Given the description of an element on the screen output the (x, y) to click on. 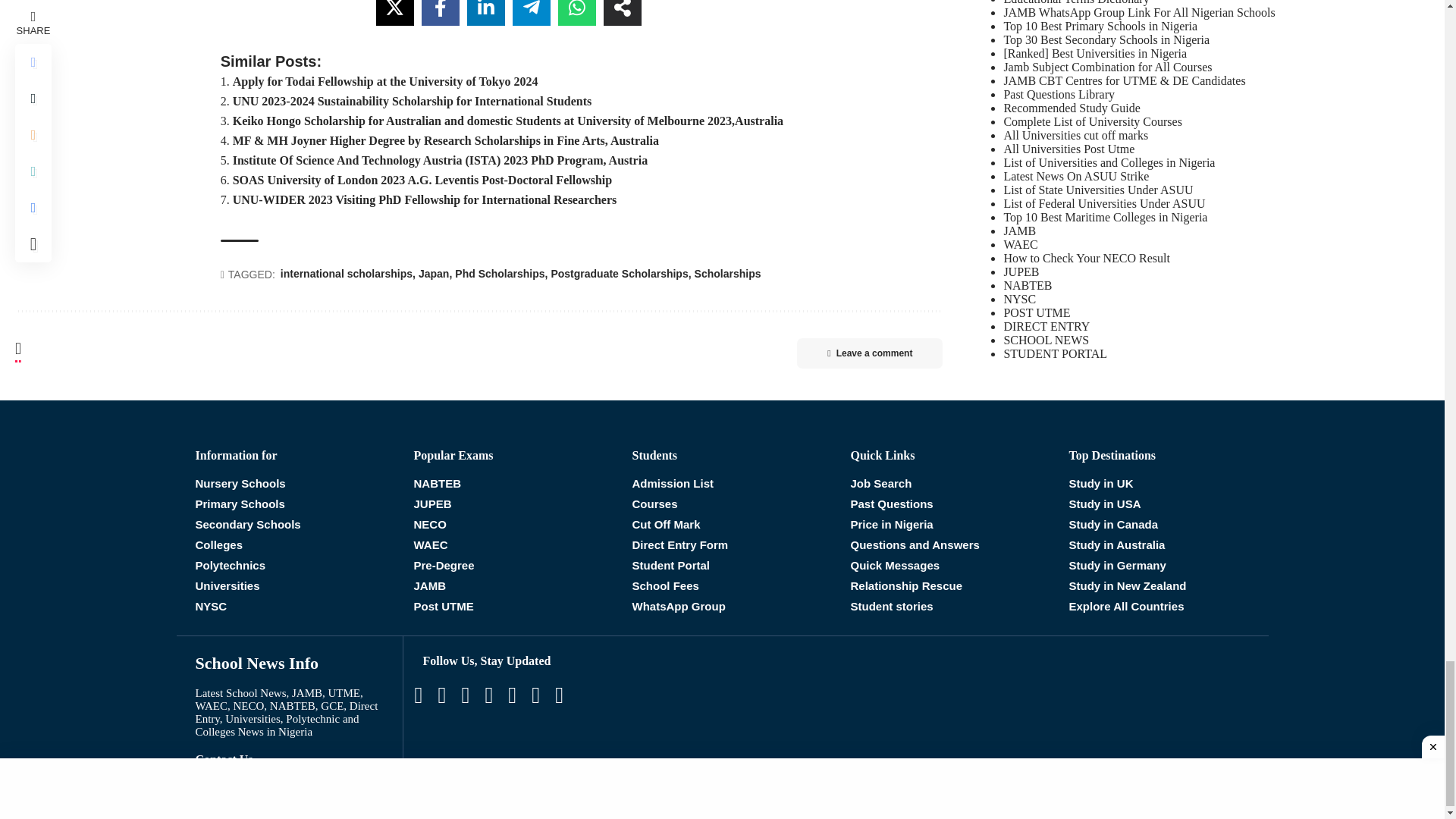
Apply for Todai Fellowship at the University of Tokyo 2024 (385, 81)
